Given the description of an element on the screen output the (x, y) to click on. 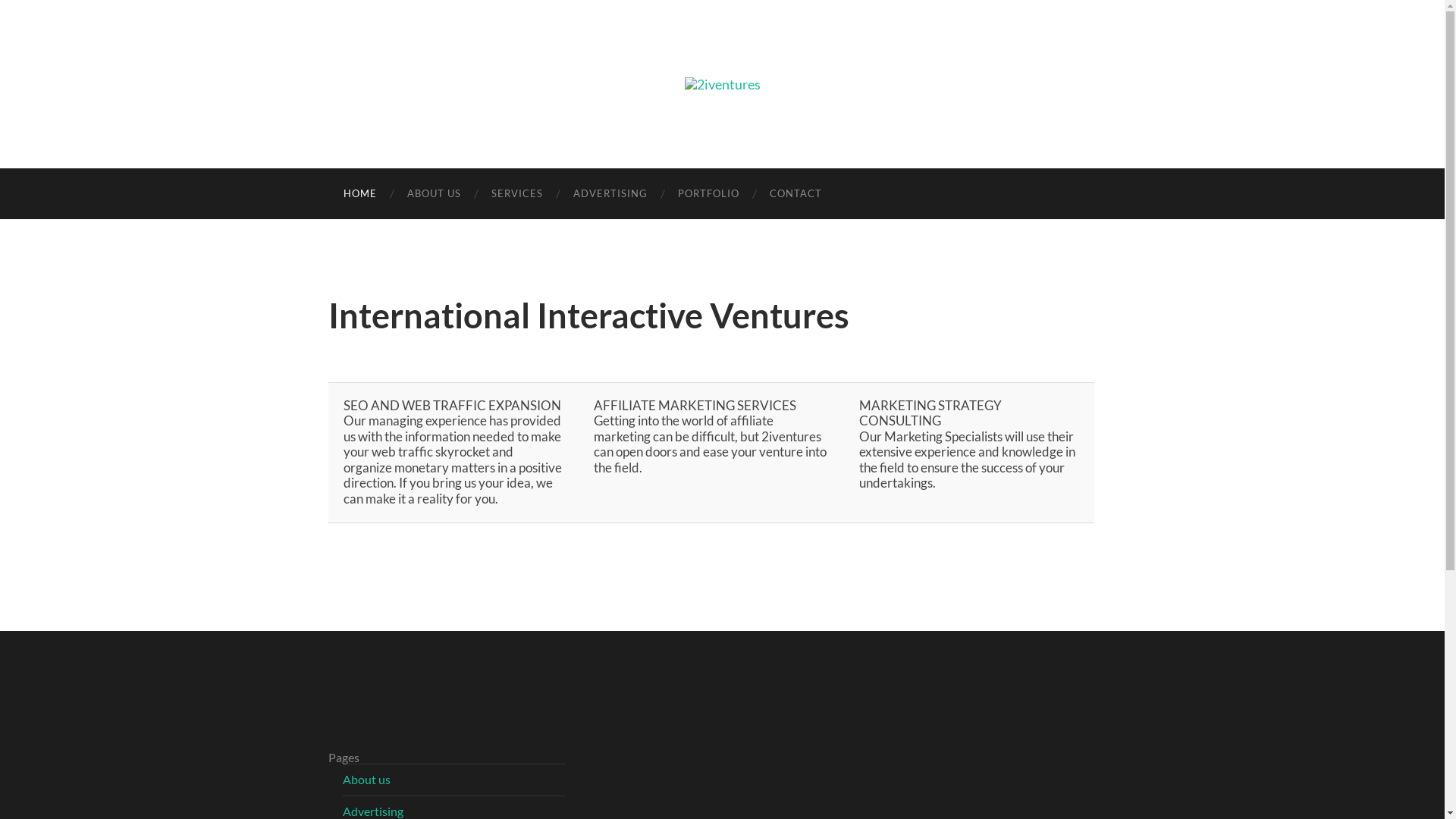
Advertising Element type: text (372, 810)
ADVERTISING Element type: text (610, 193)
SERVICES Element type: text (517, 193)
About us Element type: text (366, 778)
CONTACT Element type: text (794, 193)
HOME Element type: text (359, 193)
PORTFOLIO Element type: text (708, 193)
ABOUT US Element type: text (433, 193)
